Given the description of an element on the screen output the (x, y) to click on. 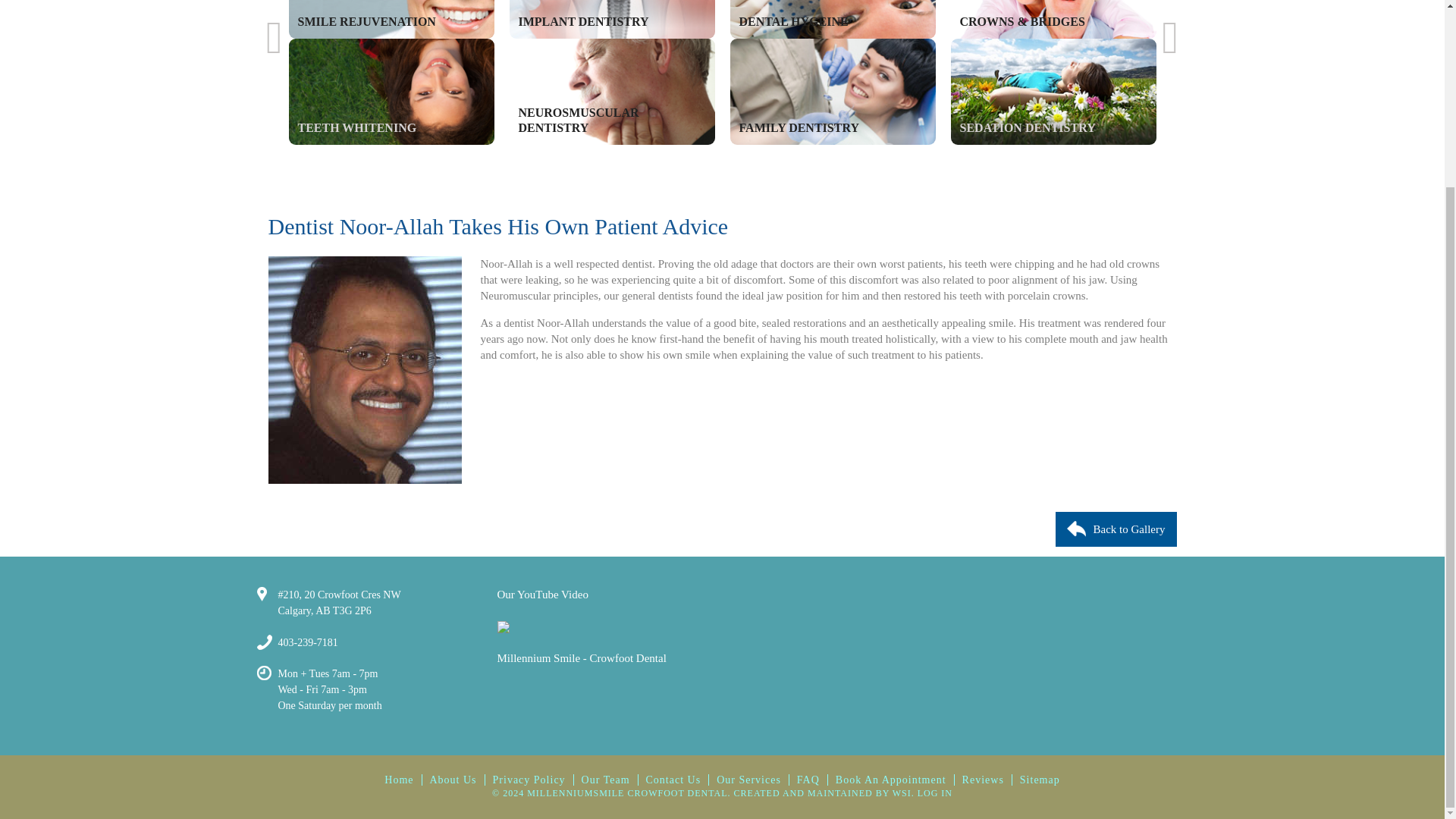
Our YouTube Video (542, 610)
Millennium Smile - Crowfoot Dental (581, 657)
Millennium Smile Crowfoot Dental (581, 682)
